Given the description of an element on the screen output the (x, y) to click on. 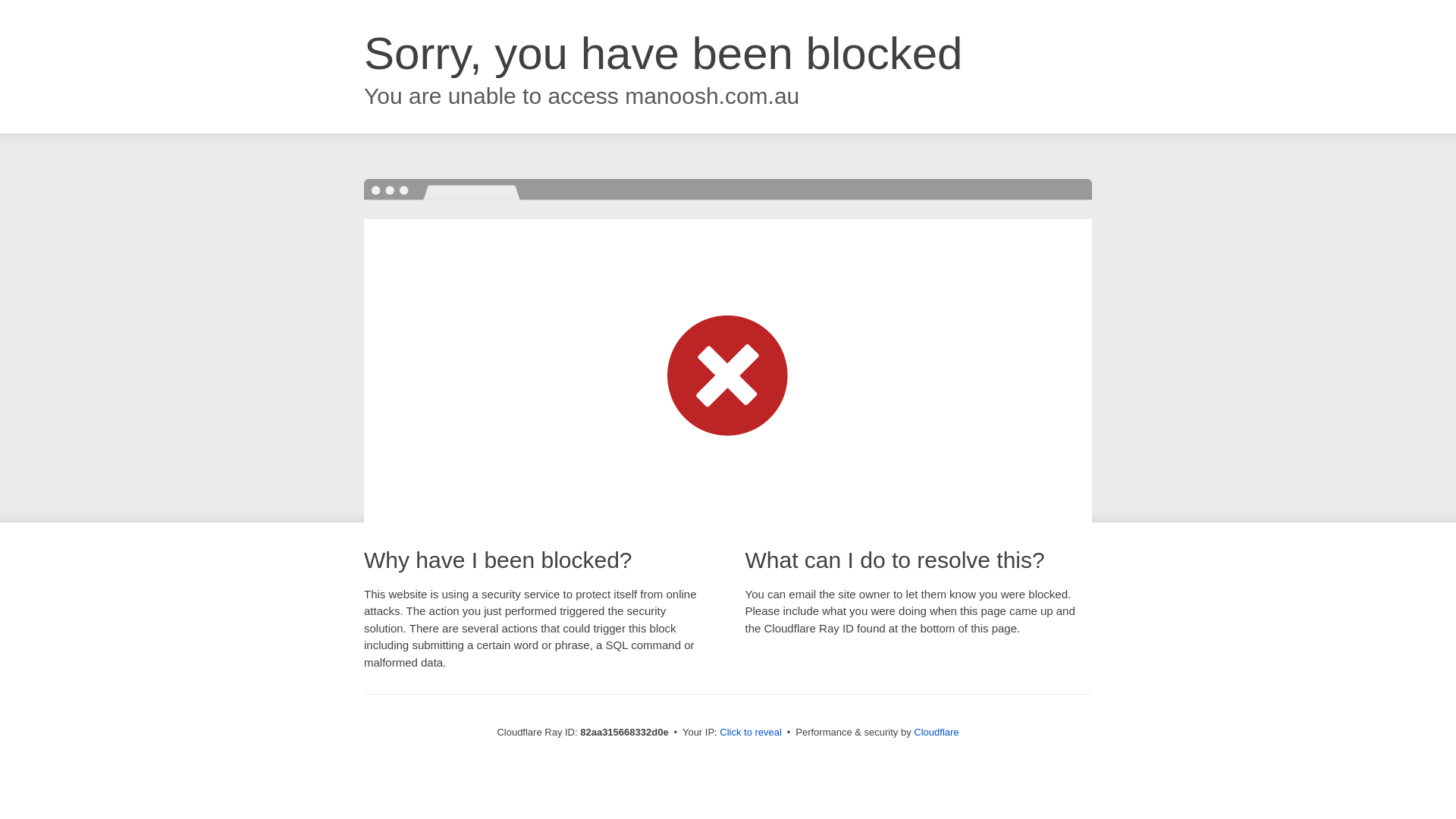
Cloudflare Element type: text (935, 731)
Click to reveal Element type: text (750, 732)
